Given the description of an element on the screen output the (x, y) to click on. 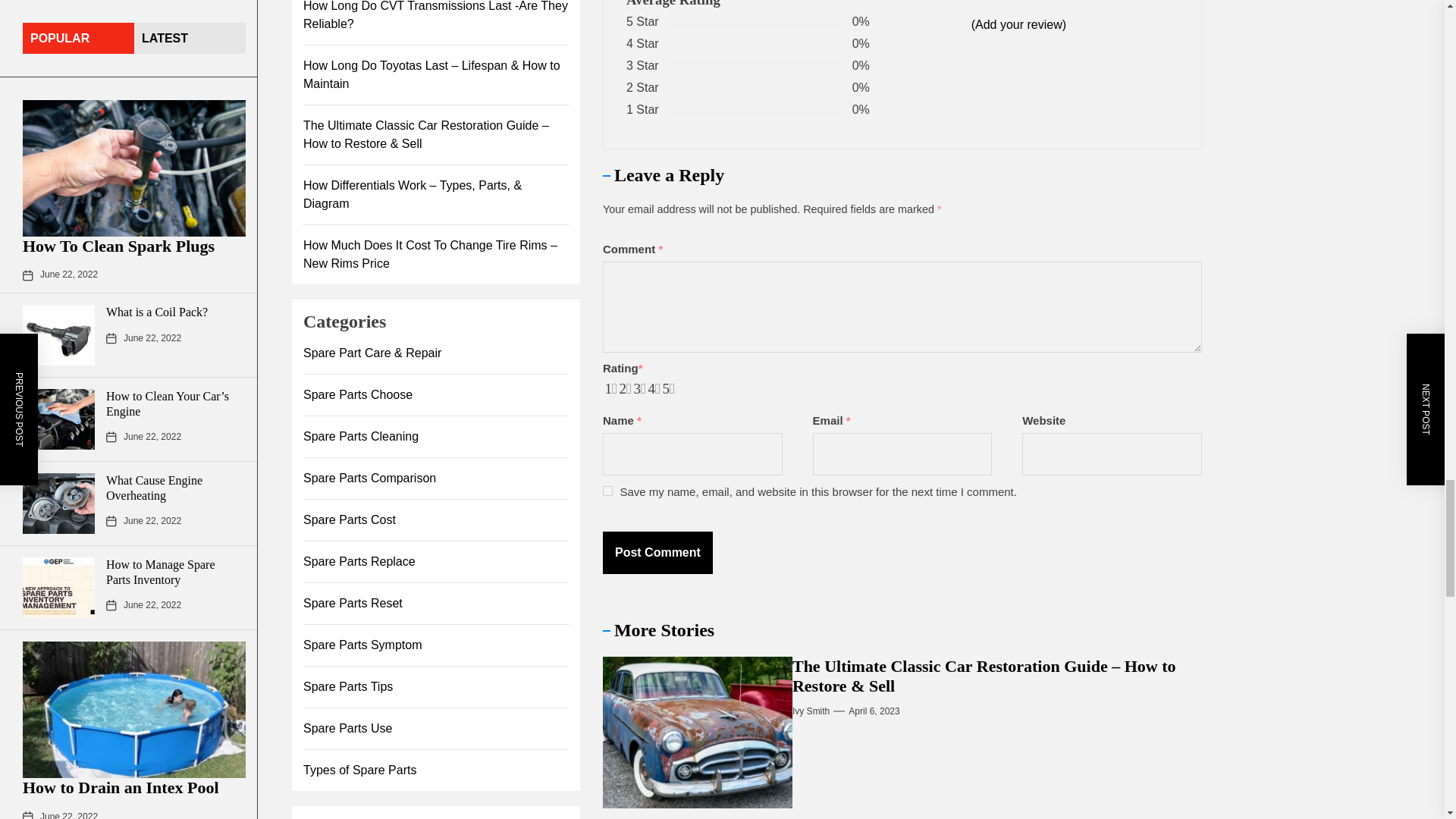
yes (607, 491)
Post Comment (657, 552)
